Given the description of an element on the screen output the (x, y) to click on. 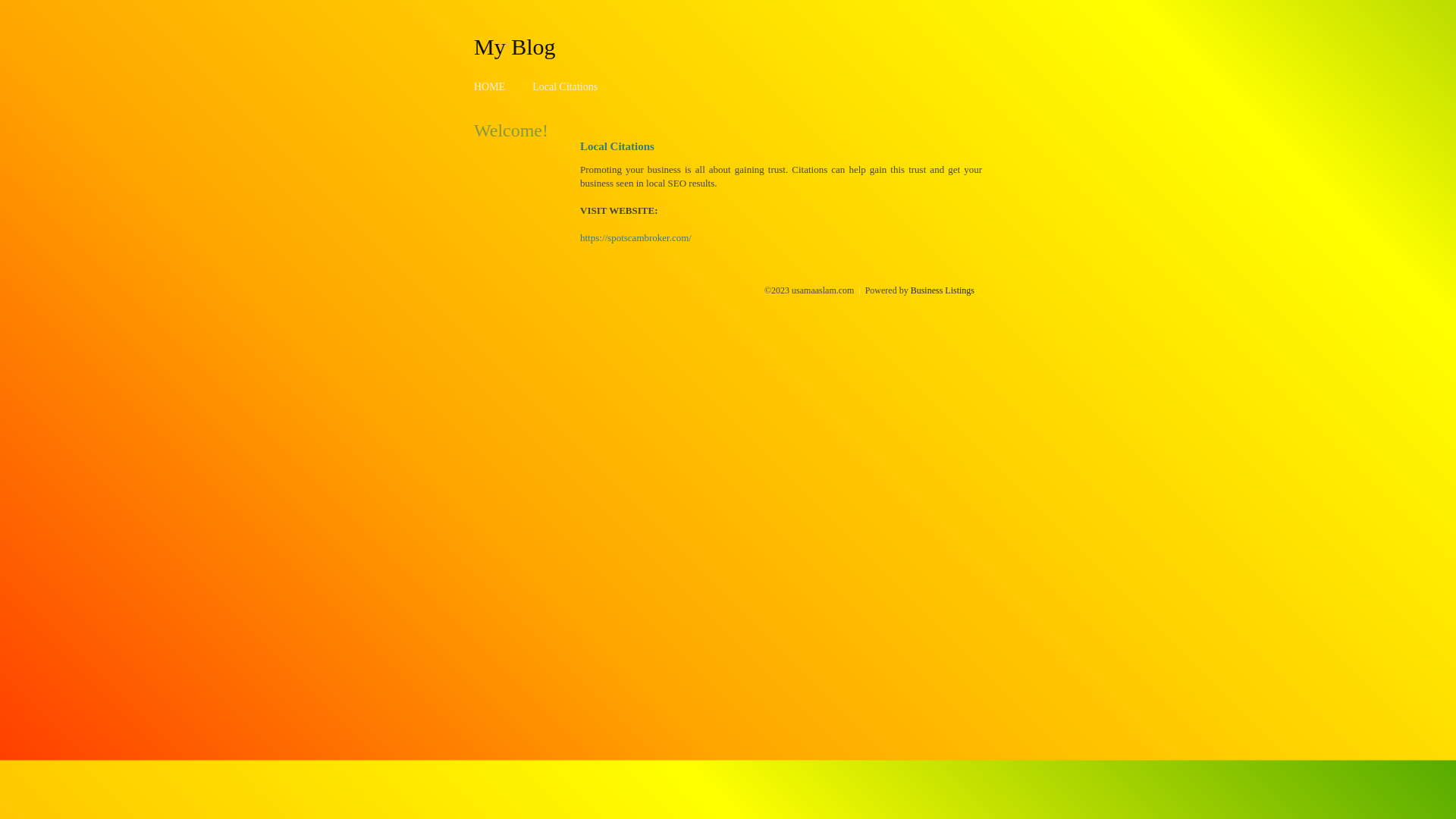
https://spotscambroker.com/ Element type: text (635, 237)
Local Citations Element type: text (564, 86)
HOME Element type: text (489, 86)
Business Listings Element type: text (942, 290)
My Blog Element type: text (514, 46)
